Given the description of an element on the screen output the (x, y) to click on. 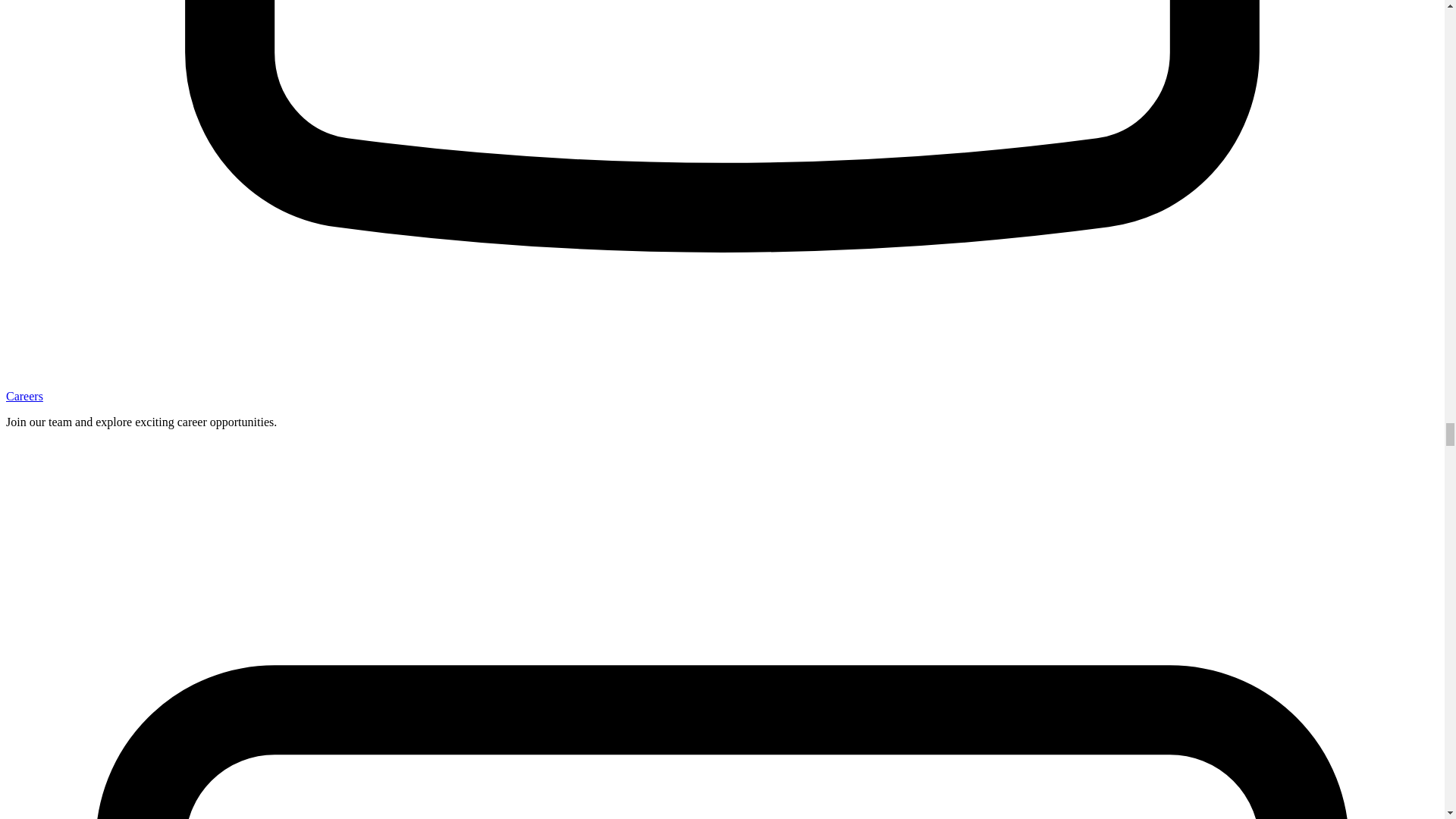
Careers (24, 395)
Careers (24, 395)
